Given the description of an element on the screen output the (x, y) to click on. 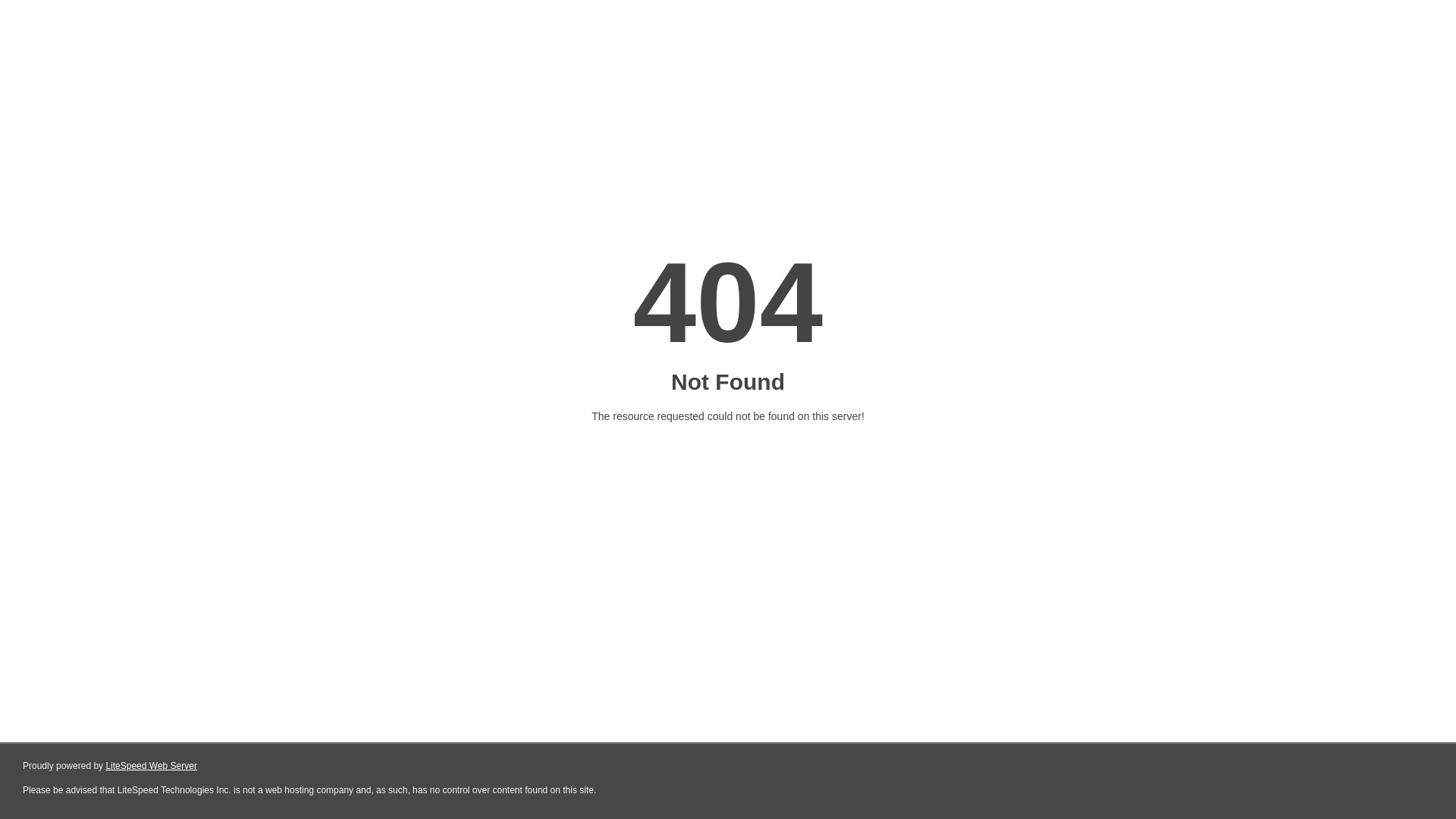
LiteSpeed Web Server Element type: text (151, 765)
